Given the description of an element on the screen output the (x, y) to click on. 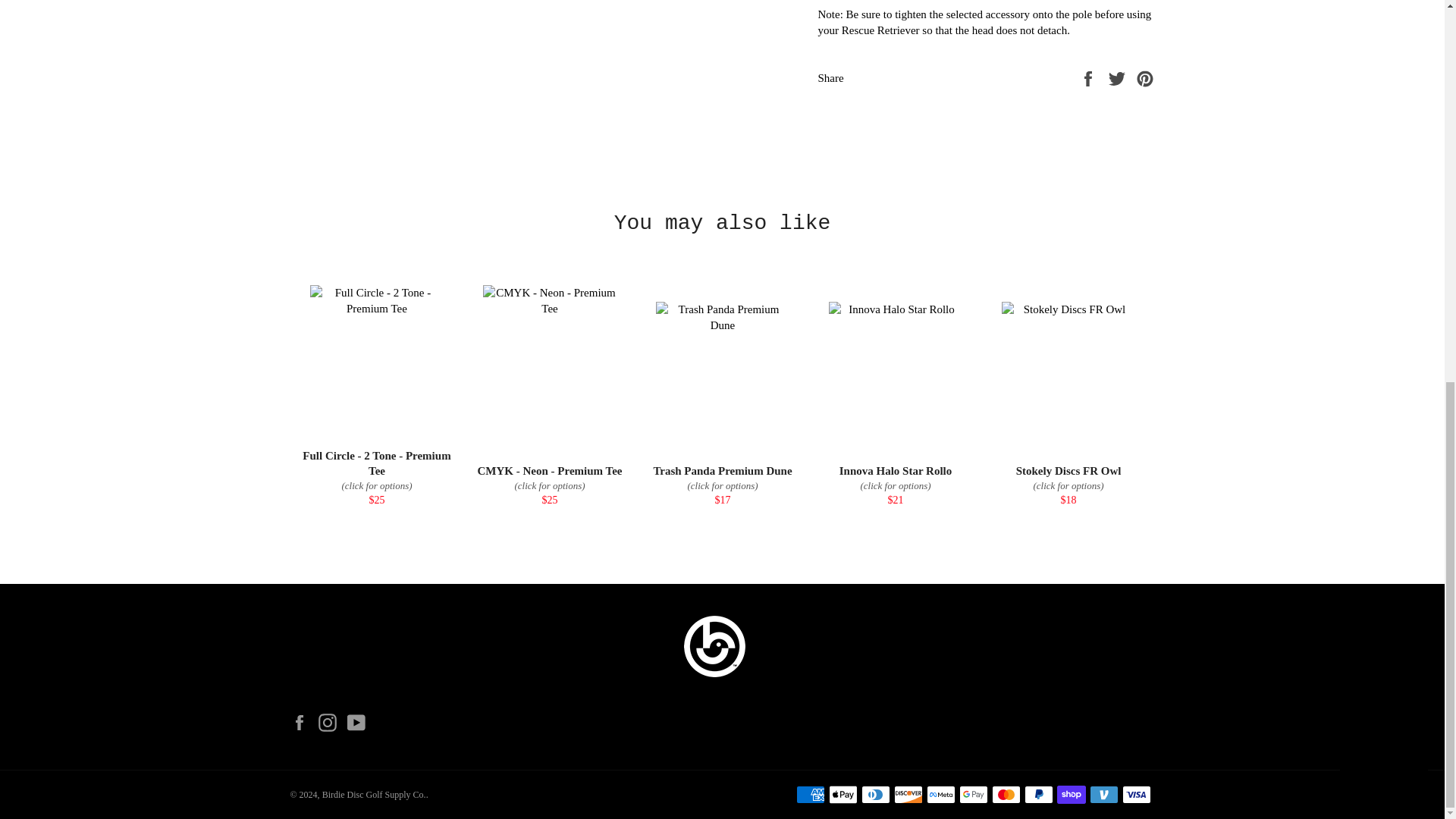
Shopify online store chat (1383, 68)
Share on Facebook (1089, 77)
Tweet on Twitter (1118, 77)
Birdie Disc Golf Supply Co. on Instagram (330, 722)
Pin on Pinterest (1144, 77)
Birdie Disc Golf Supply Co. on YouTube (359, 722)
Birdie Disc Golf Supply Co. on Facebook (302, 722)
